Given the description of an element on the screen output the (x, y) to click on. 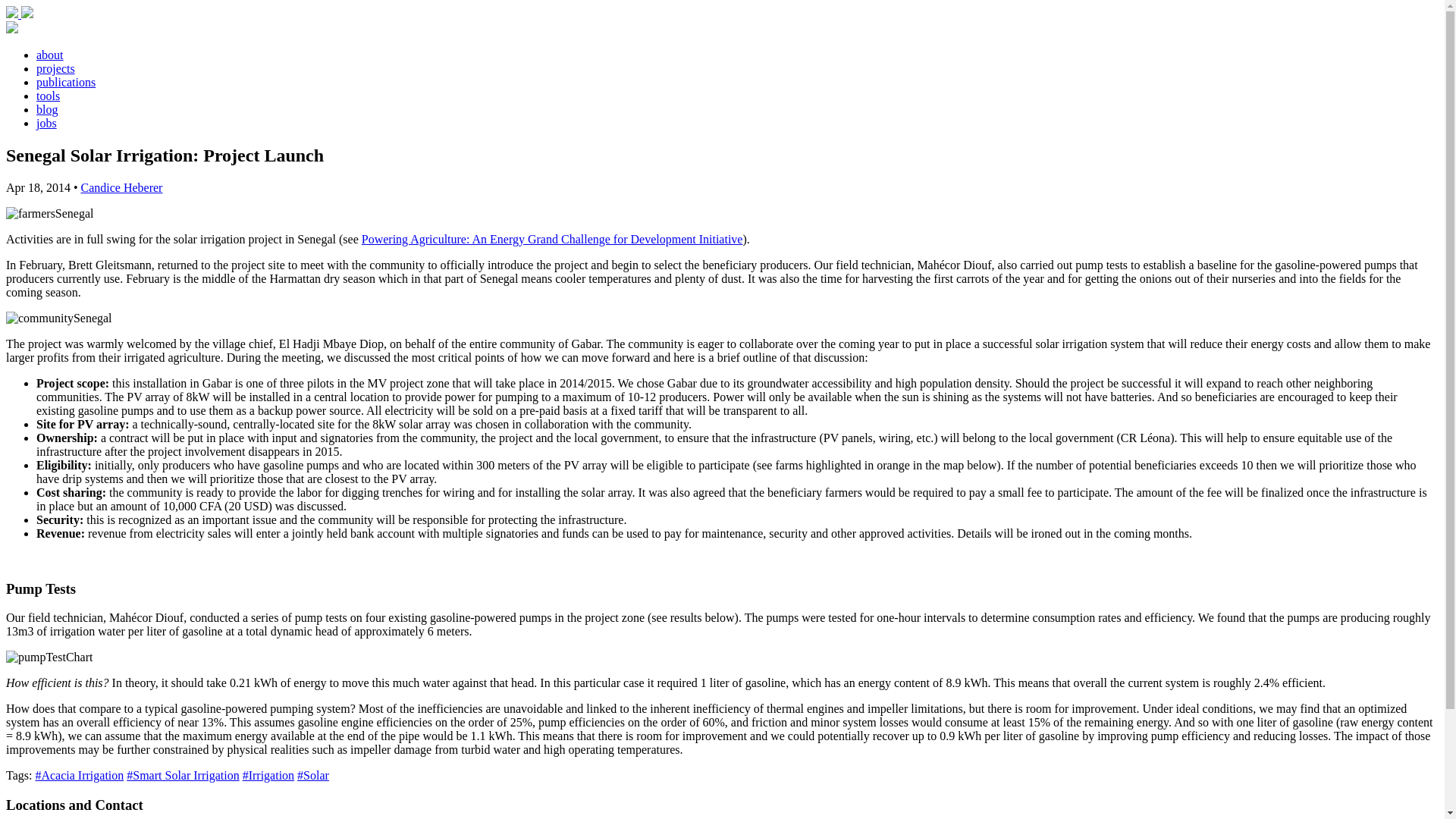
Candice Heberer (120, 187)
projects (55, 68)
tools (47, 95)
publications (66, 82)
jobs (46, 123)
about (50, 54)
blog (47, 109)
